Given the description of an element on the screen output the (x, y) to click on. 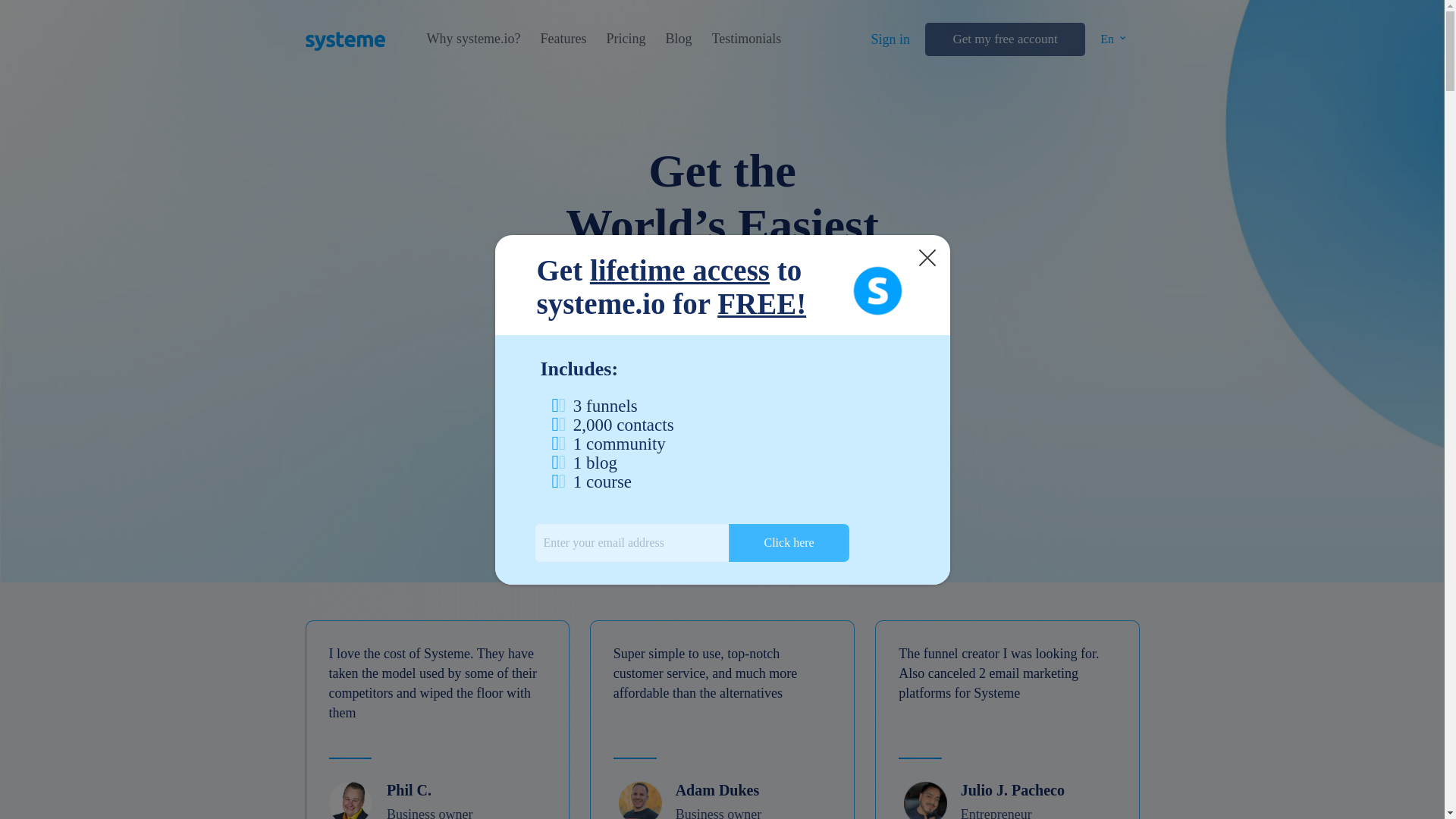
Features (563, 38)
Get my free account (1004, 39)
Sign in (890, 39)
Blog (678, 38)
Testimonials (745, 38)
Pricing (625, 38)
Why systeme.io? (472, 38)
